Given the description of an element on the screen output the (x, y) to click on. 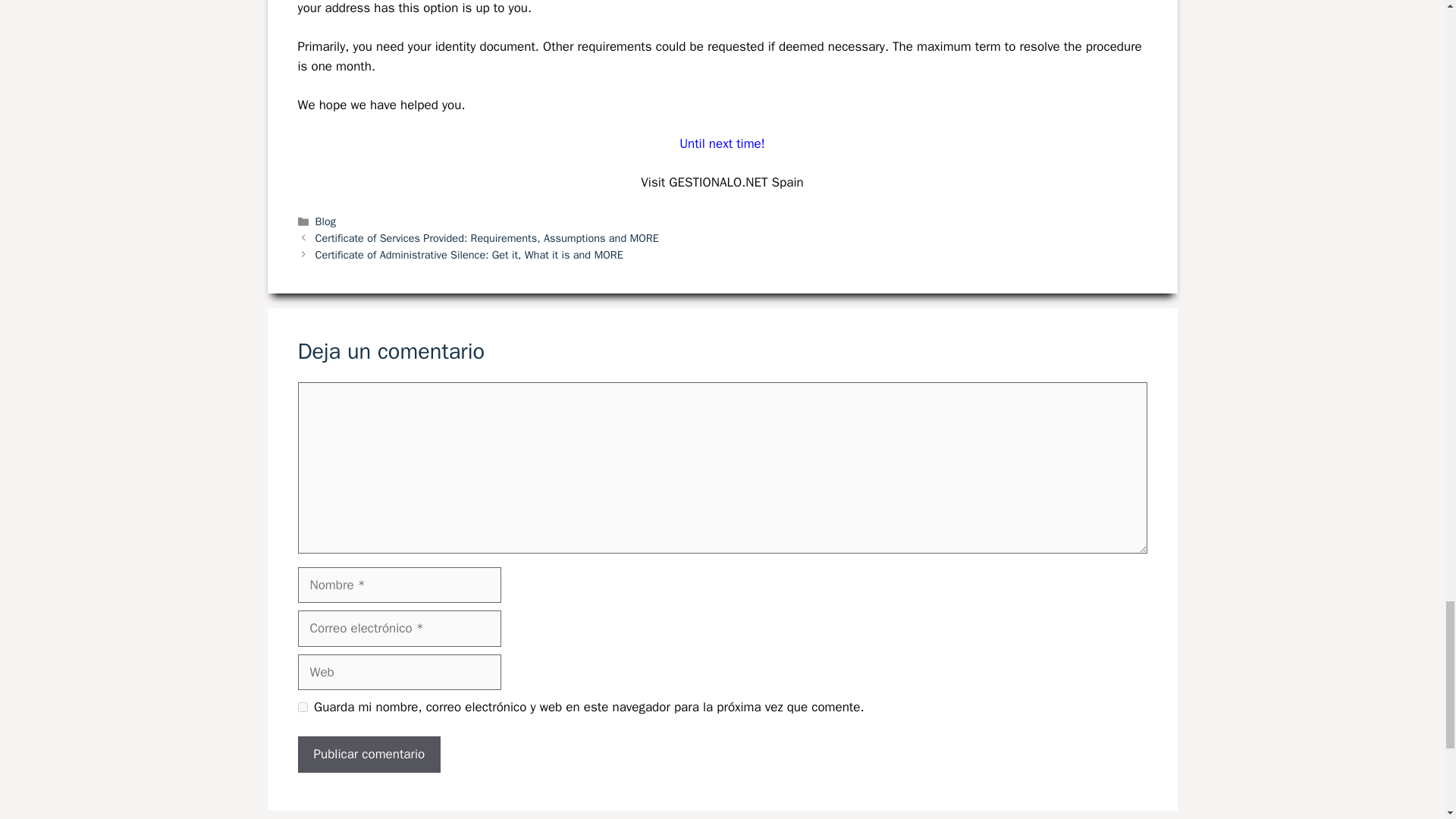
Publicar comentario (369, 754)
Publicar comentario (369, 754)
Blog (325, 221)
yes (302, 706)
